Given the description of an element on the screen output the (x, y) to click on. 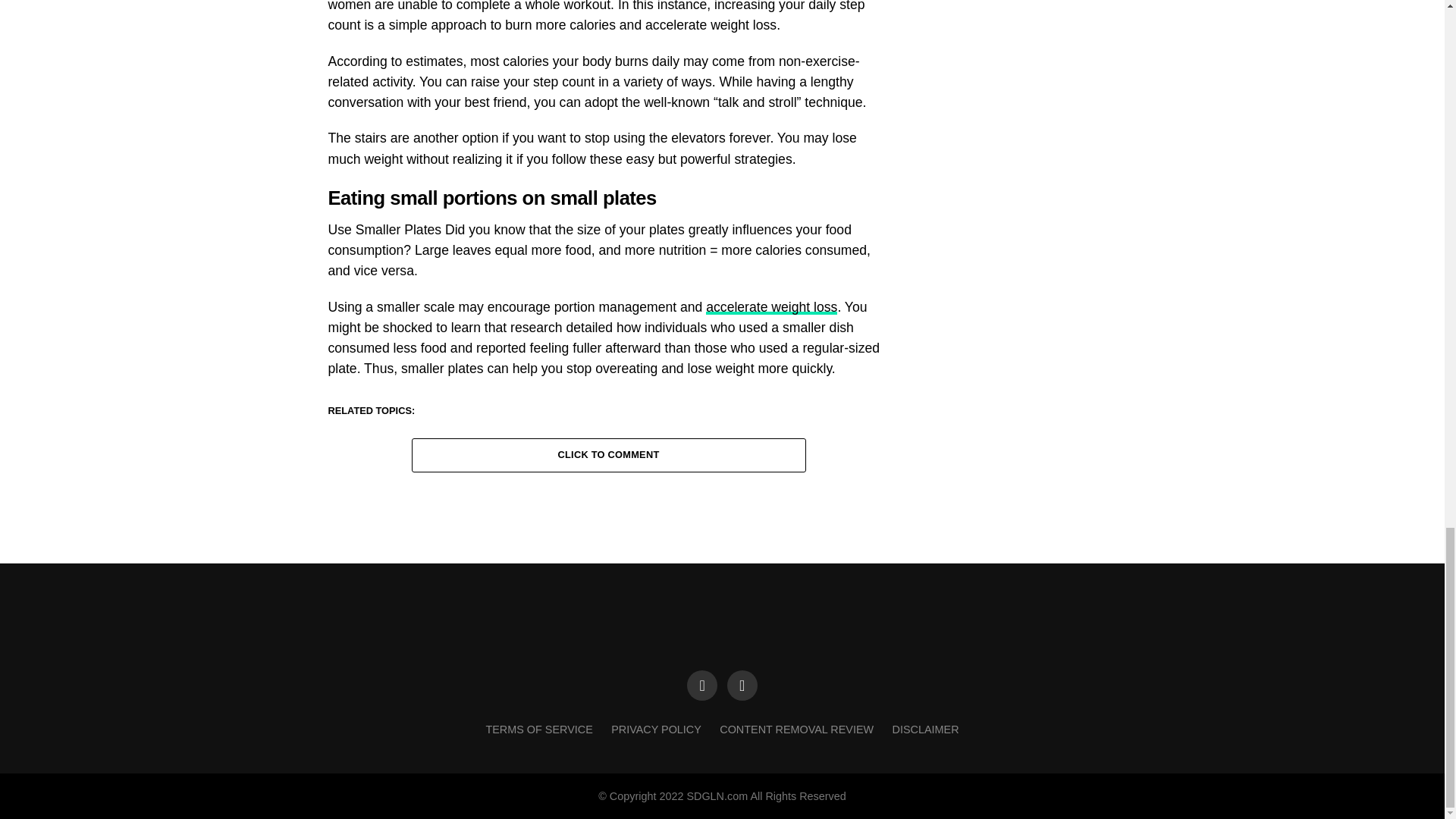
TERMS OF SERVICE (538, 729)
accelerate weight loss (771, 306)
CONTENT REMOVAL REVIEW (796, 729)
PRIVACY POLICY (656, 729)
DISCLAIMER (925, 729)
